Given the description of an element on the screen output the (x, y) to click on. 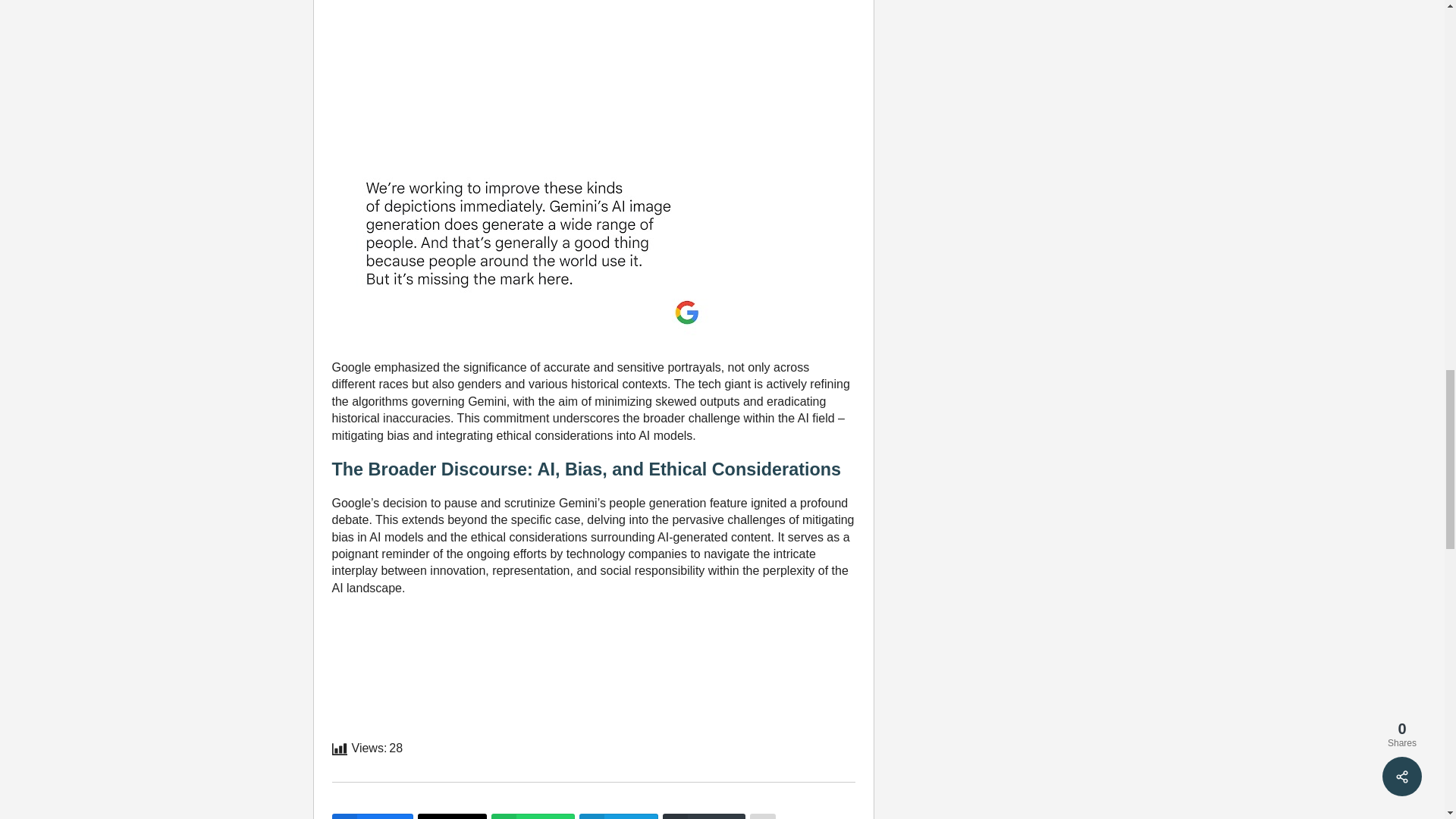
Telegram (618, 816)
Twitter (451, 816)
Facebook (372, 816)
WhatsApp (533, 816)
Copy Link (703, 816)
